Given the description of an element on the screen output the (x, y) to click on. 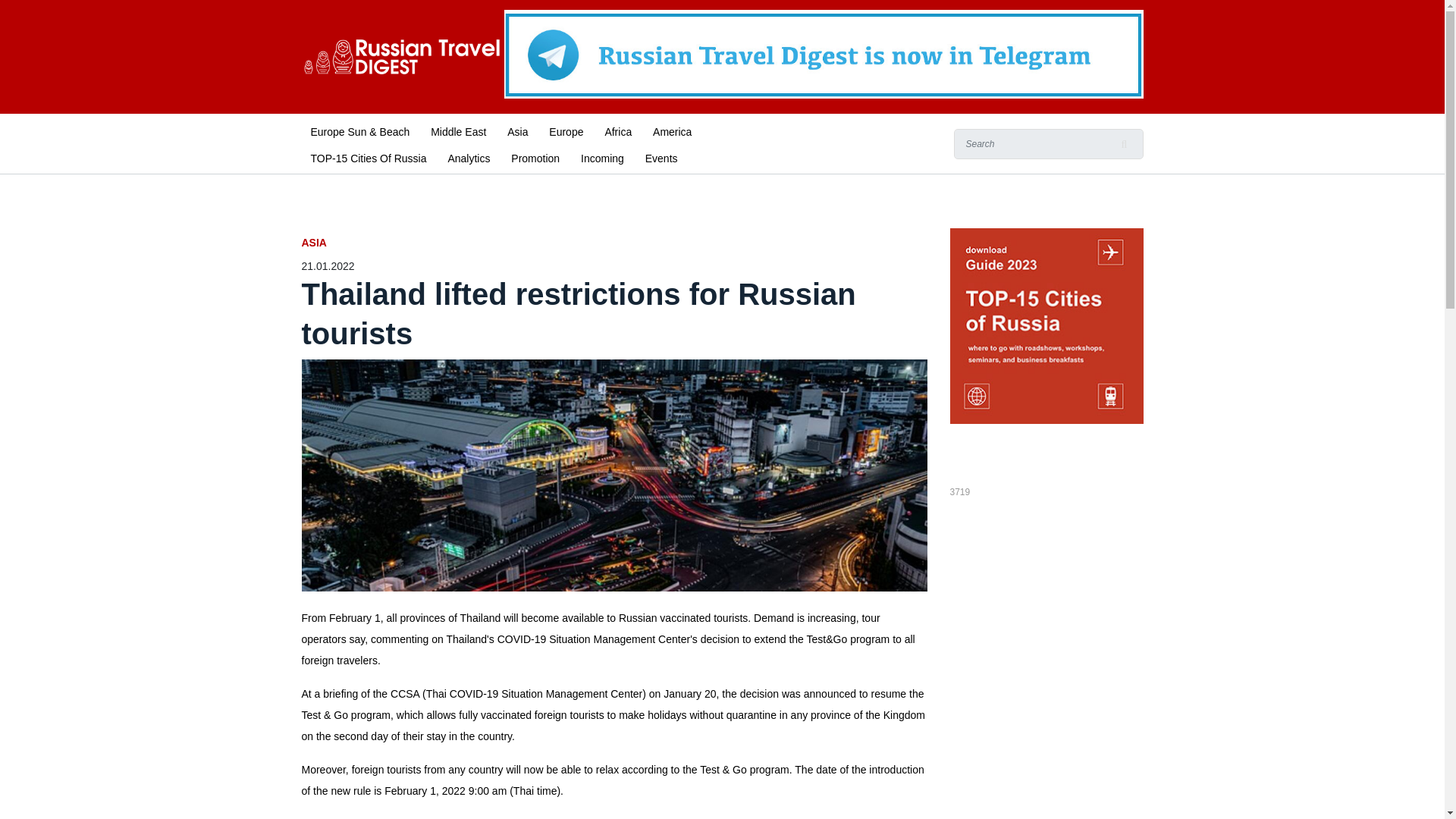
Promotion (535, 157)
Events (661, 157)
Incoming (602, 157)
Europe (566, 130)
ASIA (614, 242)
Analytics (468, 157)
Asia (517, 130)
TOP-15 Cities Of Russia (368, 157)
America (671, 130)
Middle East (458, 130)
Africa (617, 130)
sisea.search (1123, 143)
